Given the description of an element on the screen output the (x, y) to click on. 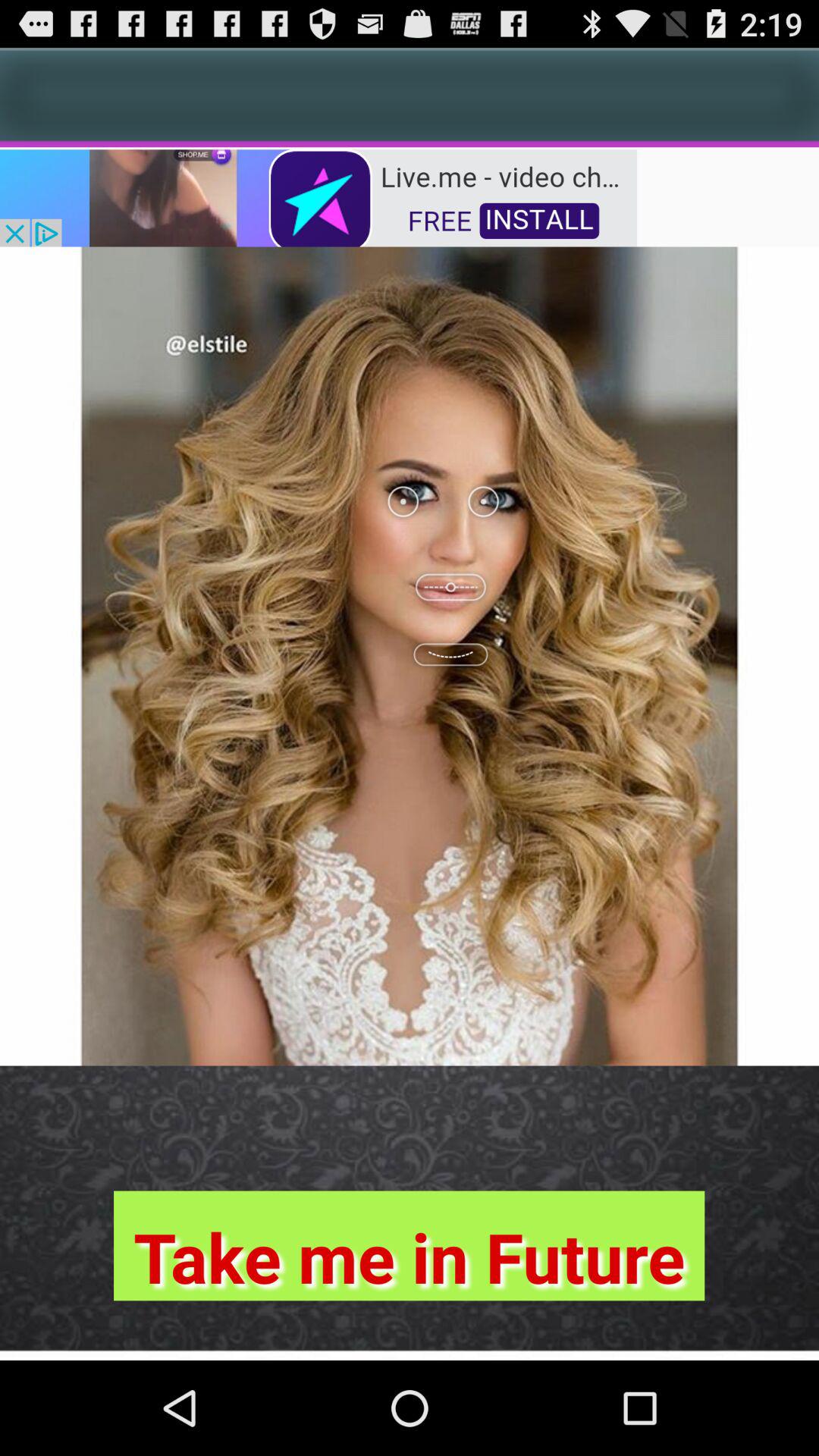
enlarge advertisement (318, 196)
